Given the description of an element on the screen output the (x, y) to click on. 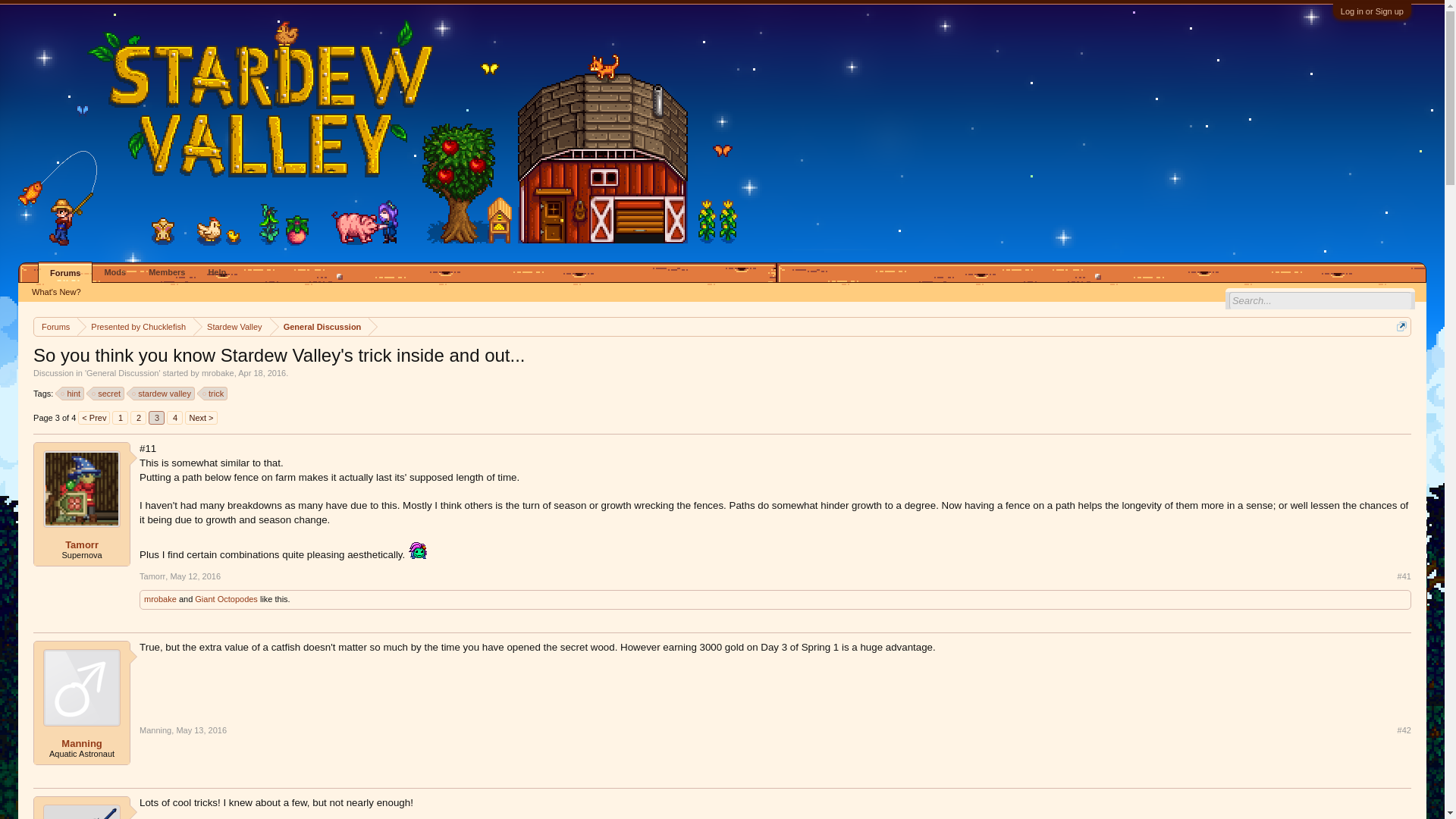
1 (120, 418)
Permalink (1403, 730)
trick (215, 393)
mrobake (160, 598)
May 12, 2016 (195, 575)
Manning (82, 743)
Apr 18, 2016 (261, 372)
2 (139, 418)
mrobake (218, 372)
Open quick navigation (1401, 326)
May 13, 2016 (201, 729)
Presented by Chucklefish (135, 326)
Stardew Valley (231, 326)
Permalink (1403, 576)
3 (156, 418)
